Given the description of an element on the screen output the (x, y) to click on. 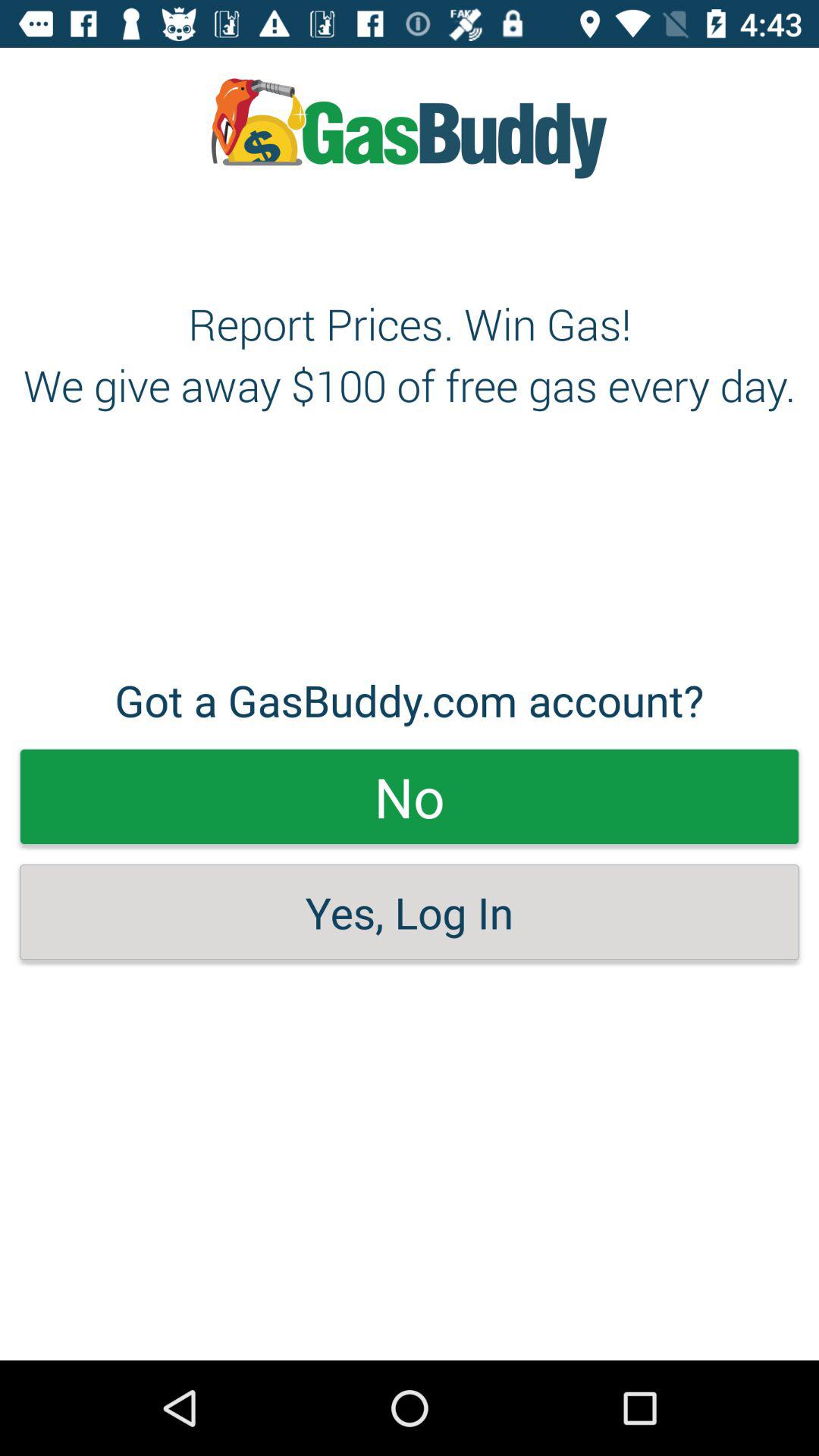
click the item below the no icon (409, 912)
